Given the description of an element on the screen output the (x, y) to click on. 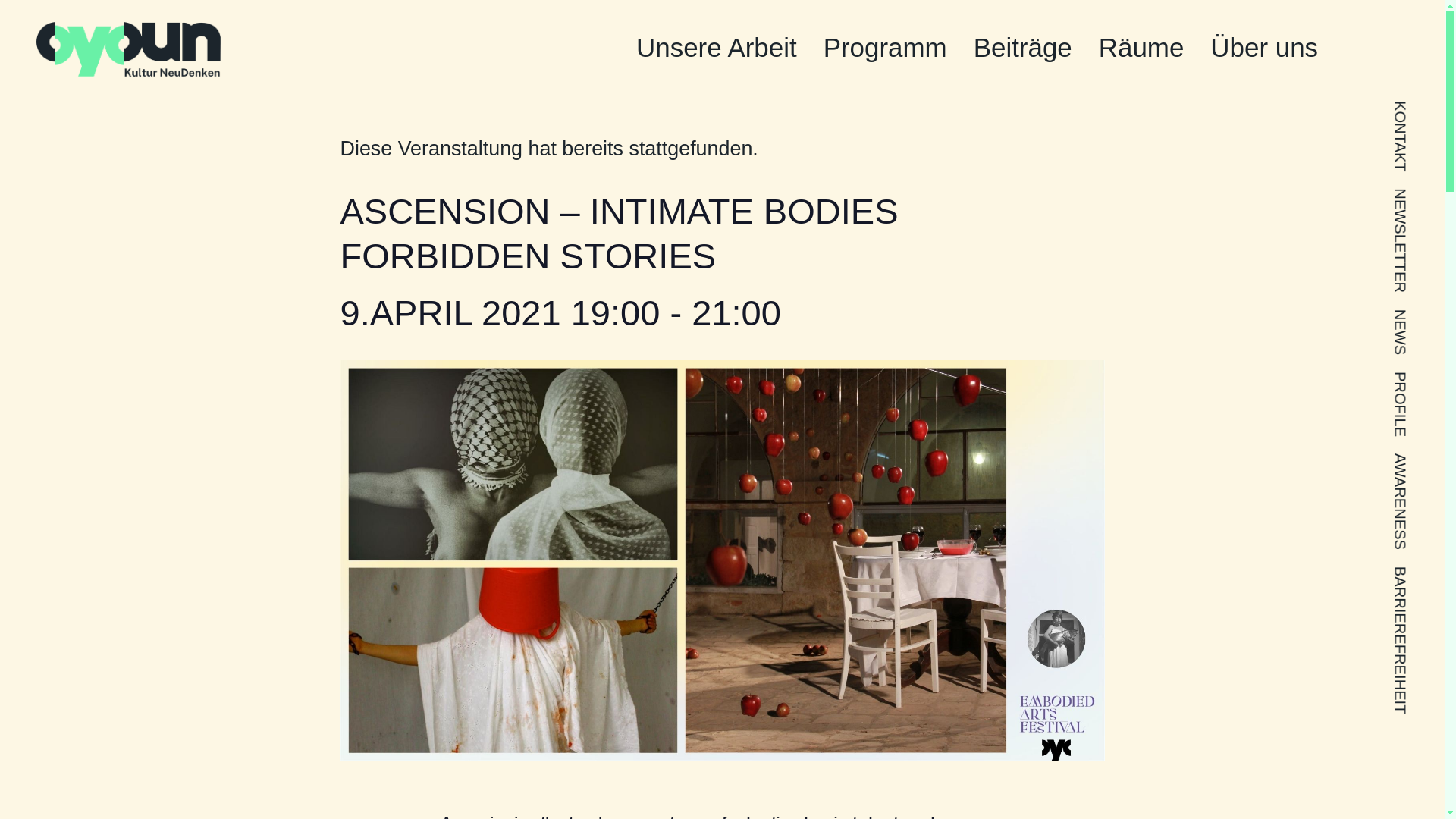
NEWS (1414, 317)
Unsere Arbeit (716, 48)
Programm (885, 48)
